Given the description of an element on the screen output the (x, y) to click on. 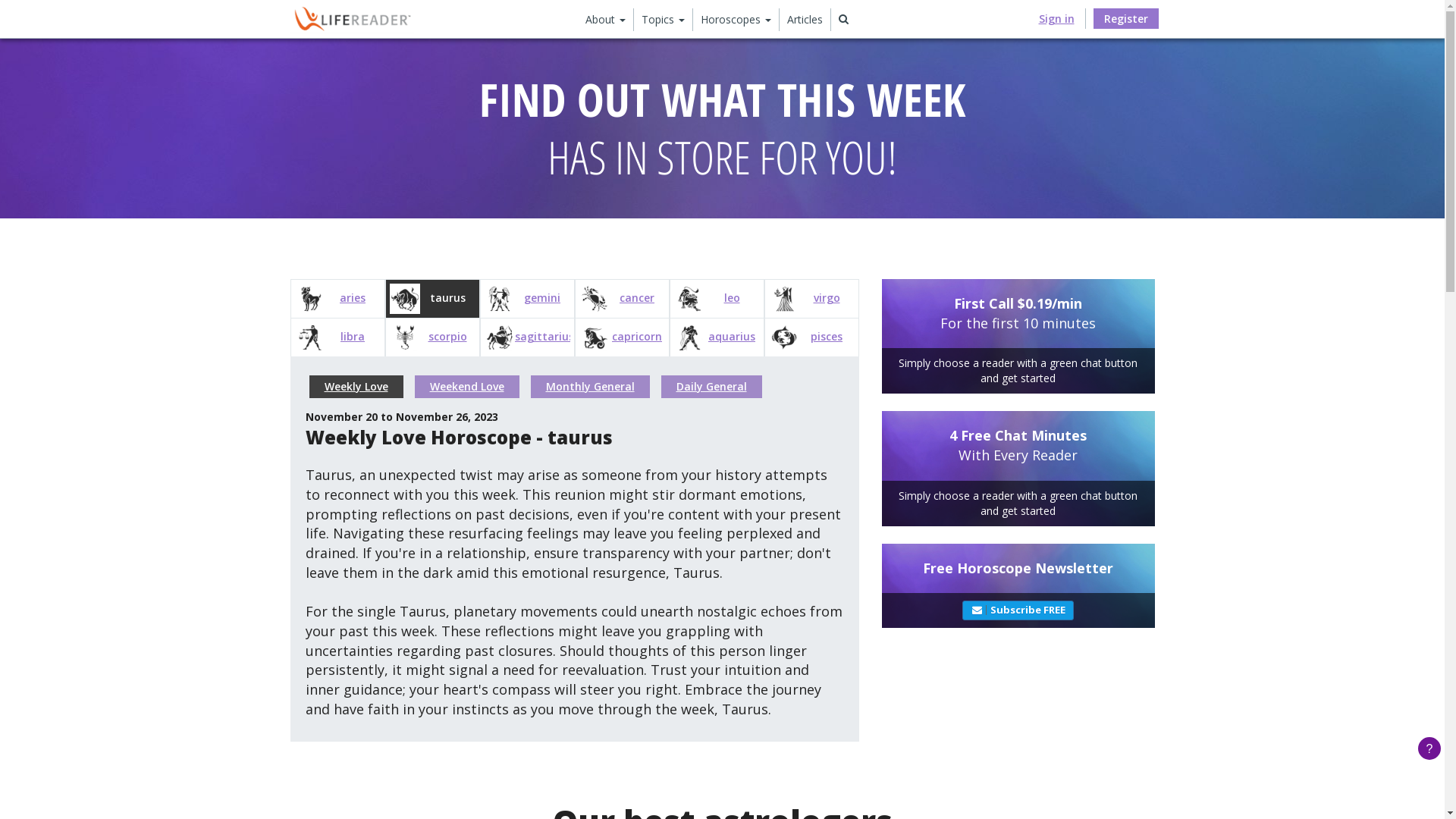
Daily General Element type: text (711, 386)
Weekly Love Element type: text (356, 386)
Subscribe FREE Element type: text (1017, 610)
Horoscopes Element type: text (736, 19)
Topics Element type: text (663, 19)
Weekend Love Element type: text (466, 386)
Sign in Element type: text (1056, 18)
Register Element type: text (1125, 18)
Monthly General Element type: text (589, 386)
About Element type: text (605, 19)
Articles Element type: text (805, 19)
